Given the description of an element on the screen output the (x, y) to click on. 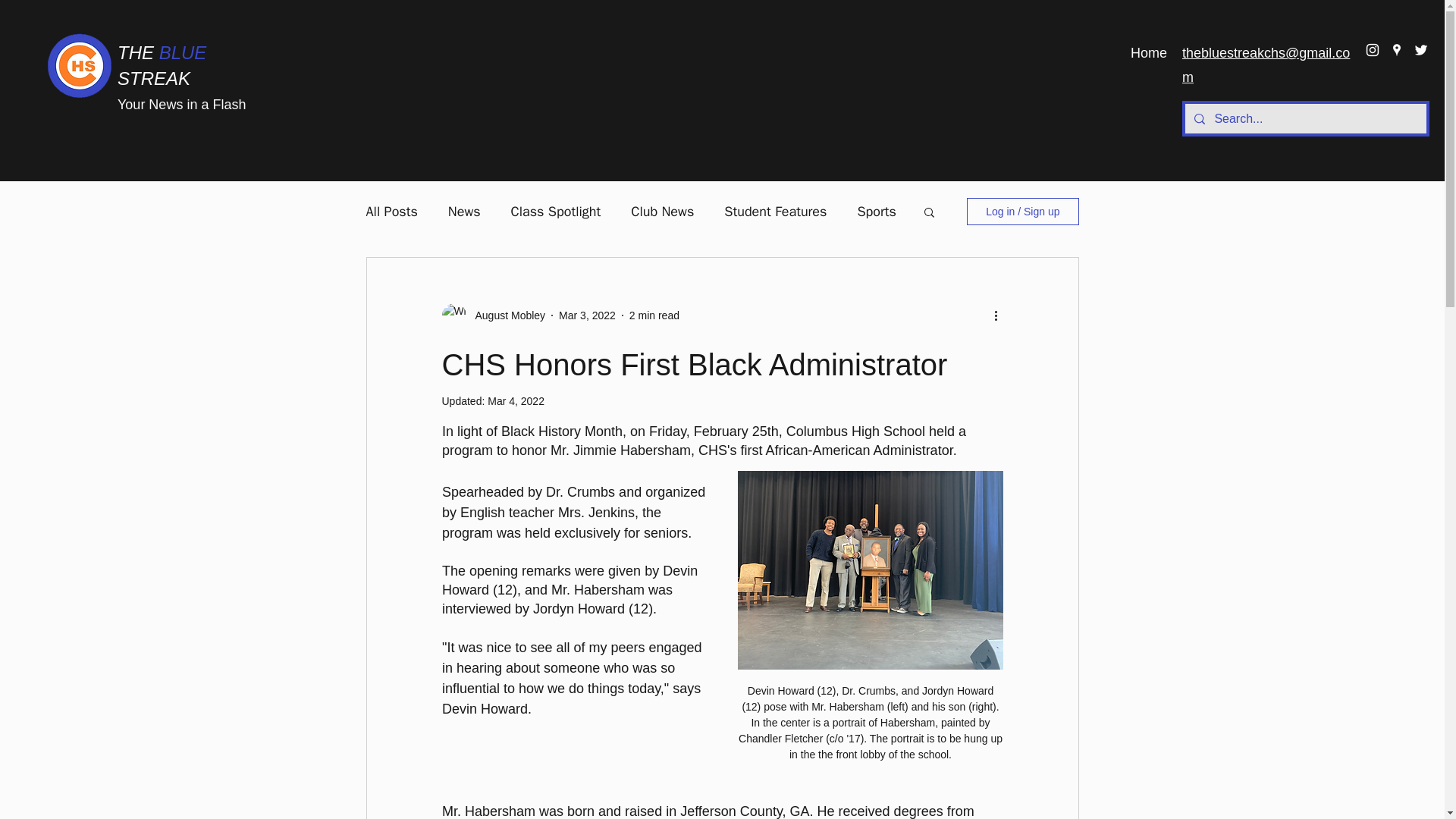
August Mobley (504, 315)
2 min read (653, 315)
Student Features (775, 211)
News (464, 211)
Club News (662, 211)
Home (1148, 52)
Mar 4, 2022 (515, 400)
Class Spotlight (556, 211)
All Posts (390, 211)
Sports (876, 211)
